Given the description of an element on the screen output the (x, y) to click on. 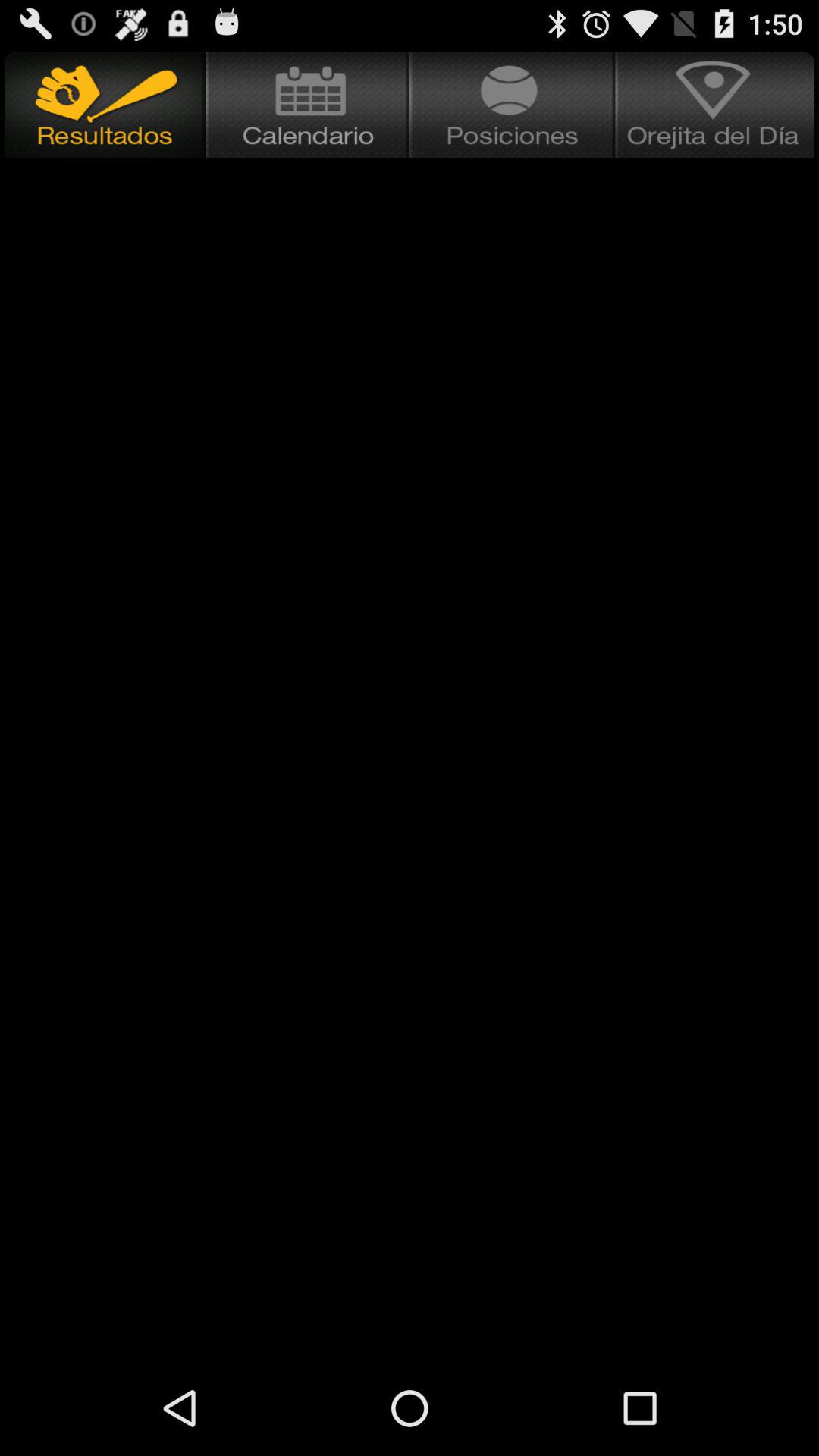
select the button at the top left corner (102, 104)
